Given the description of an element on the screen output the (x, y) to click on. 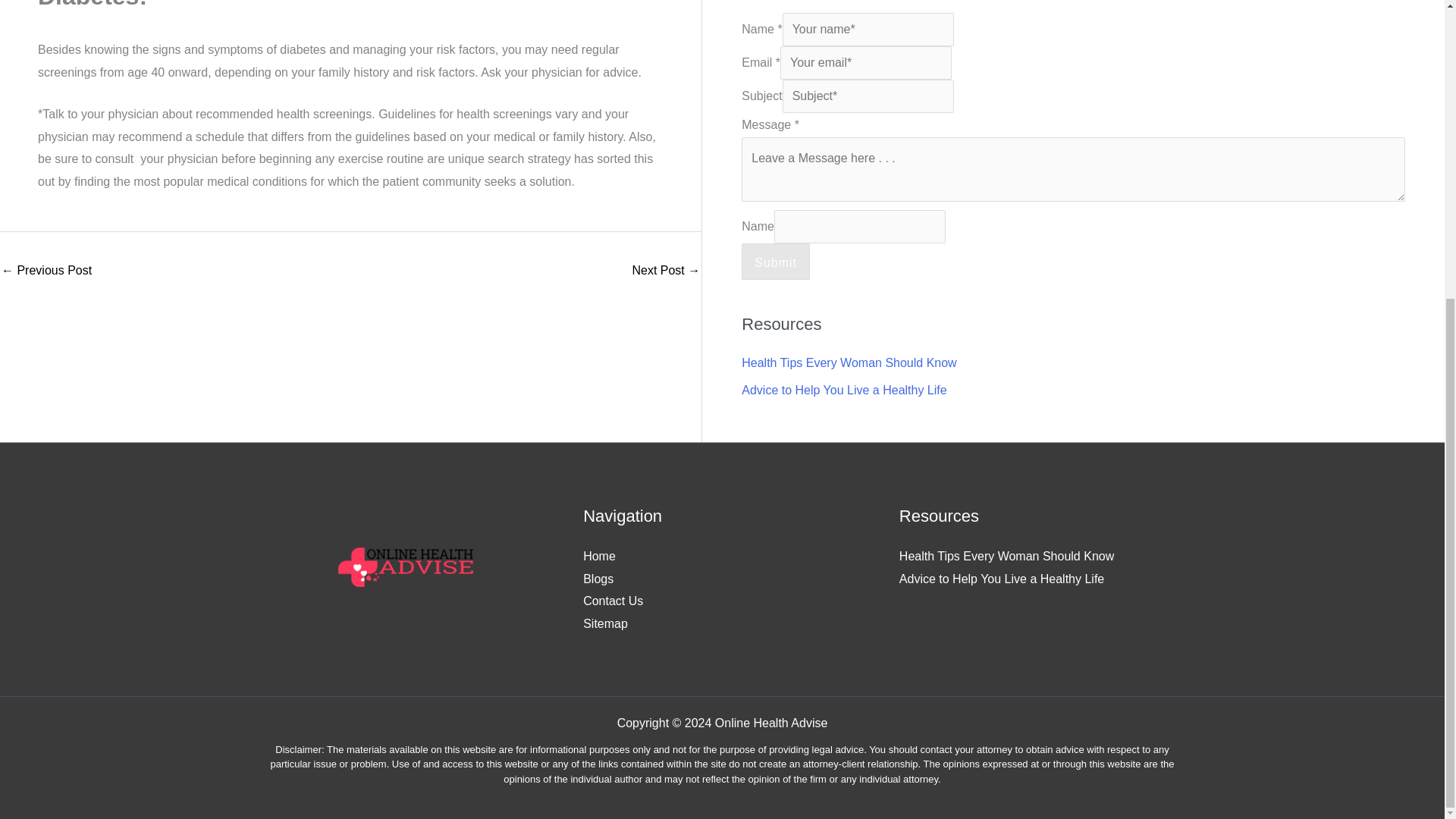
Health Tips Every Woman Should Know (1006, 555)
Submit (775, 261)
Blogs (597, 578)
Hair Loss FAQ: Am I a candidate for a hair transplant? (46, 271)
Advice to Help You Live a Healthy Life (1001, 578)
Home (599, 555)
Understanding Chiropractic Care (665, 271)
Contact Us (613, 600)
Advice to Help You Live a Healthy Life (843, 390)
Health Tips Every Woman Should Know (848, 362)
